Given the description of an element on the screen output the (x, y) to click on. 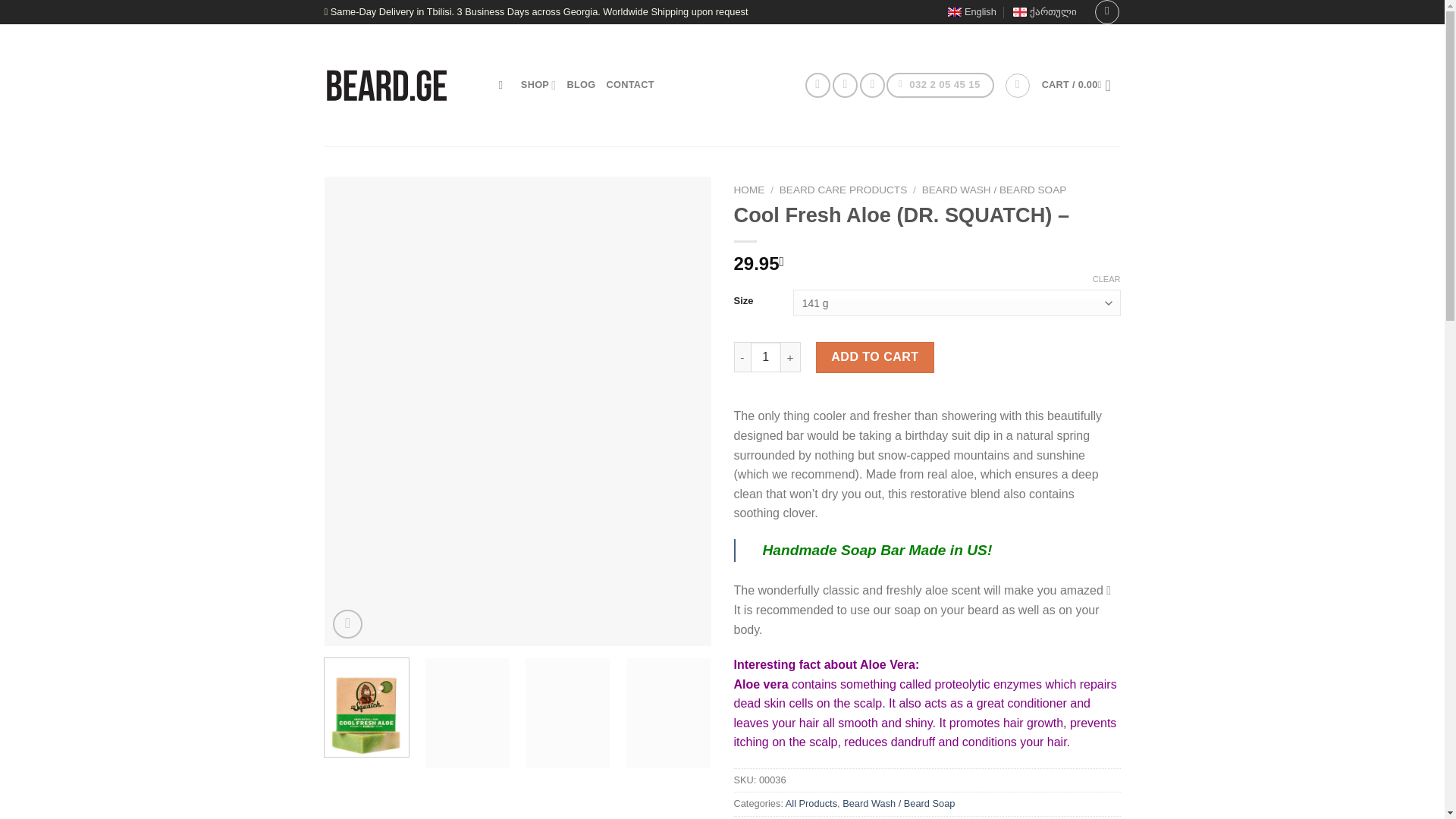
1 (765, 357)
BLOG (580, 84)
Cart (1081, 84)
English (971, 12)
Zoom (347, 624)
English (971, 12)
Follow on Facebook (817, 84)
Follow on Instagram (844, 84)
Follow on YouTube (872, 84)
SHOP (538, 84)
CONTACT (629, 84)
